Given the description of an element on the screen output the (x, y) to click on. 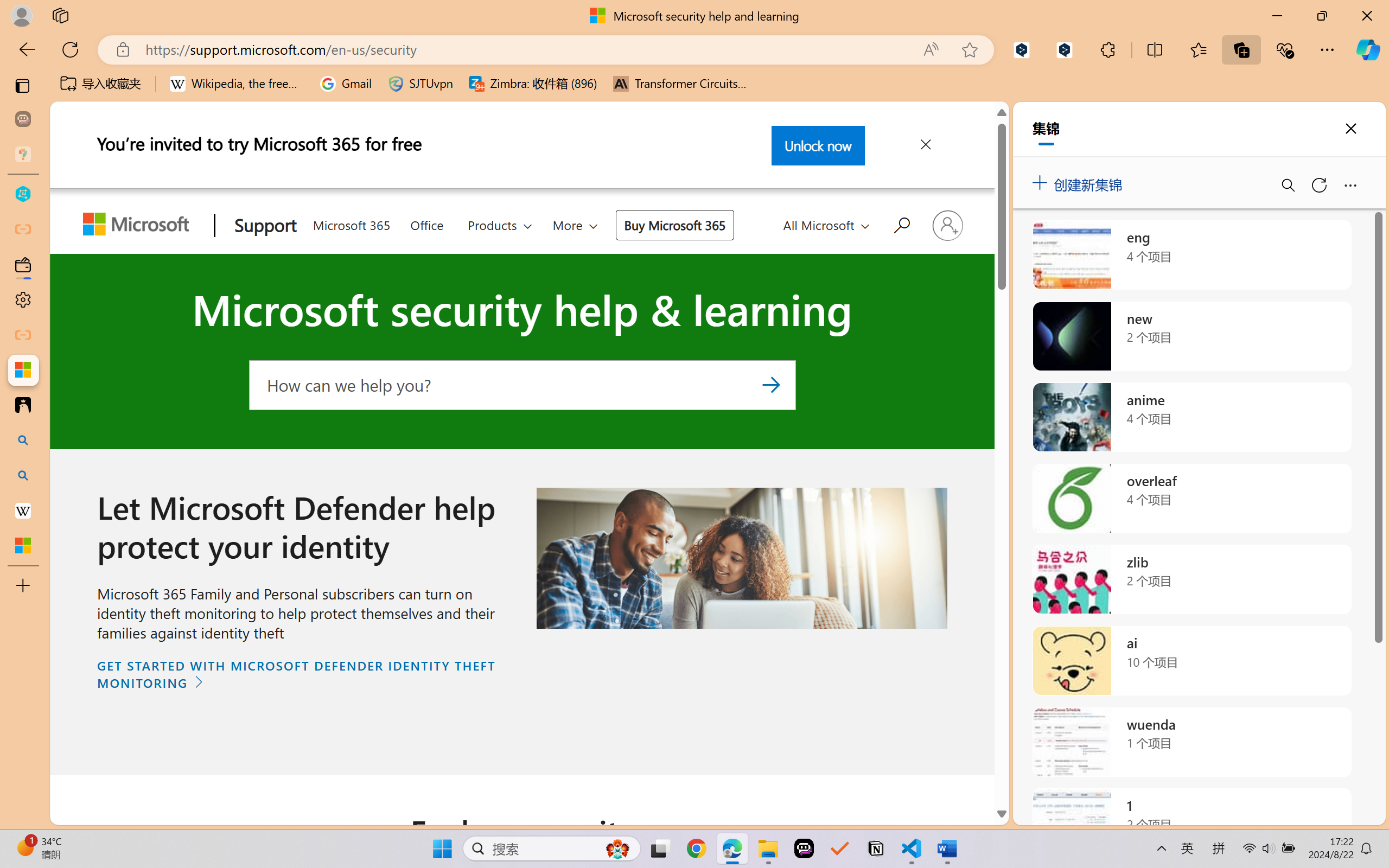
Earth - Wikipedia (22, 510)
More (576, 224)
